Given the description of an element on the screen output the (x, y) to click on. 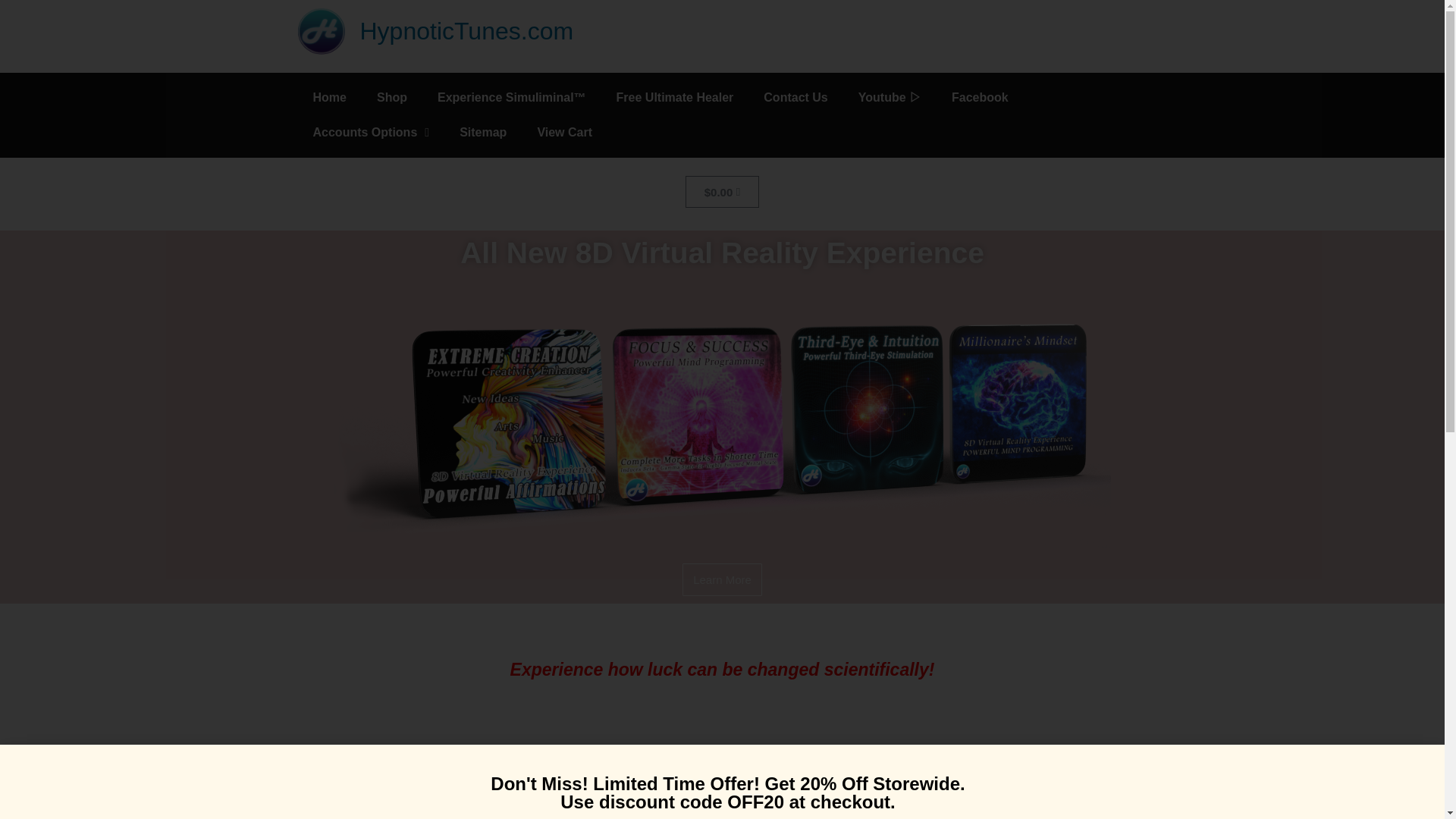
Home (329, 97)
Shop (391, 97)
Contact Us (795, 97)
Facebook (979, 97)
HypnoticTunes.com (466, 31)
Free Ultimate Healer (675, 97)
